Given the description of an element on the screen output the (x, y) to click on. 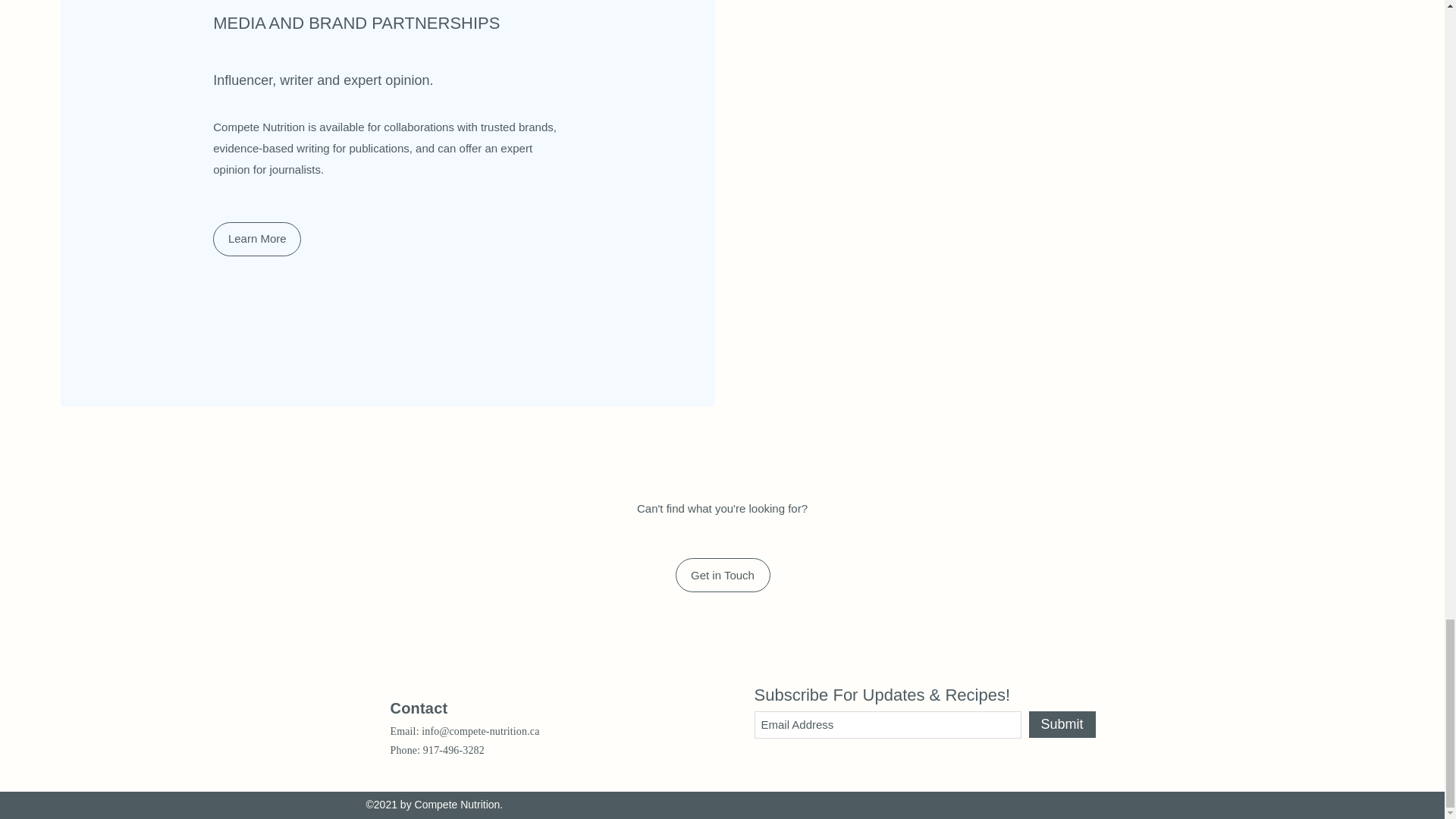
Submit (1060, 724)
Get in Touch (722, 574)
Learn More (256, 238)
